Given the description of an element on the screen output the (x, y) to click on. 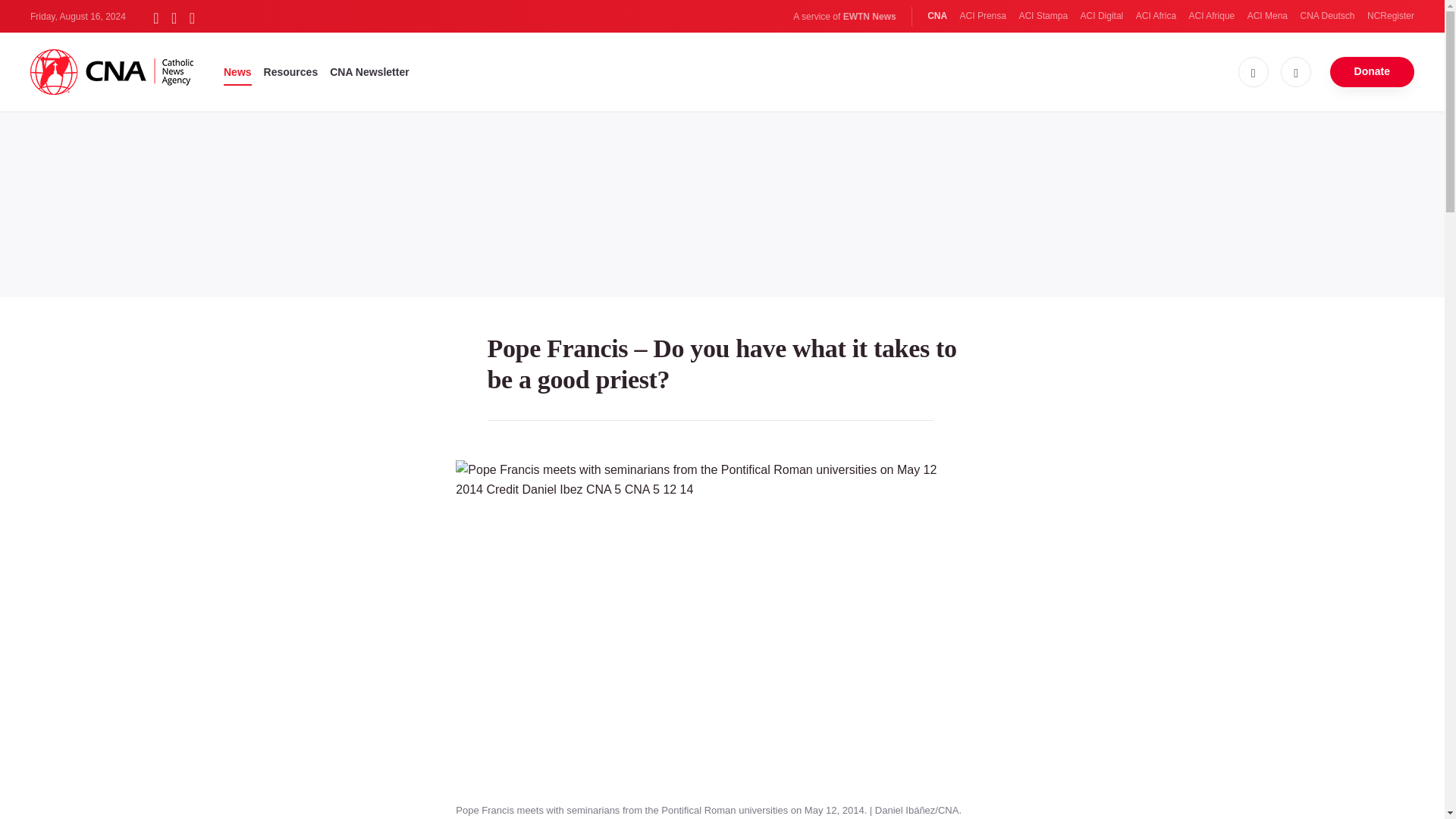
EWTN News (869, 16)
News (237, 71)
ACI Prensa (982, 16)
ACI Afrique (1211, 16)
ACI Digital (1102, 16)
ACI Stampa (1042, 16)
CNA (937, 16)
NCRegister (1390, 16)
ACI Mena (1267, 16)
Resources (290, 71)
